Given the description of an element on the screen output the (x, y) to click on. 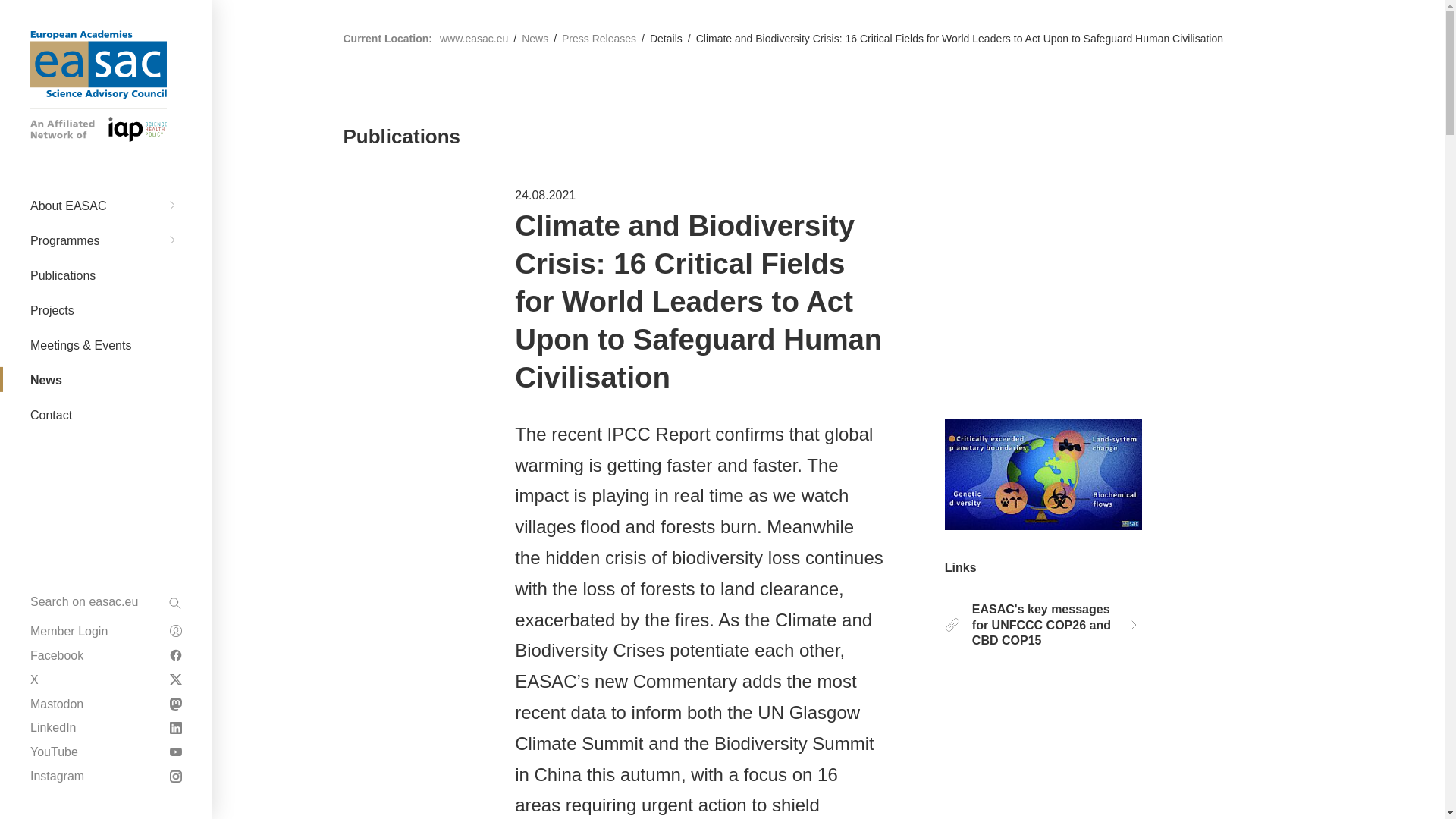
Biosciences and Public Health (106, 30)
Postdoc Policy Advisor (106, 337)
Steering Panel Members (106, 472)
EASAC's key messages for UNFCCC COP26 and CBD COP15 (1042, 624)
Publications (106, 234)
President (106, 156)
Programme Director (106, 498)
Members (106, 86)
Projects (106, 99)
Press and Communications (106, 287)
